Given the description of an element on the screen output the (x, y) to click on. 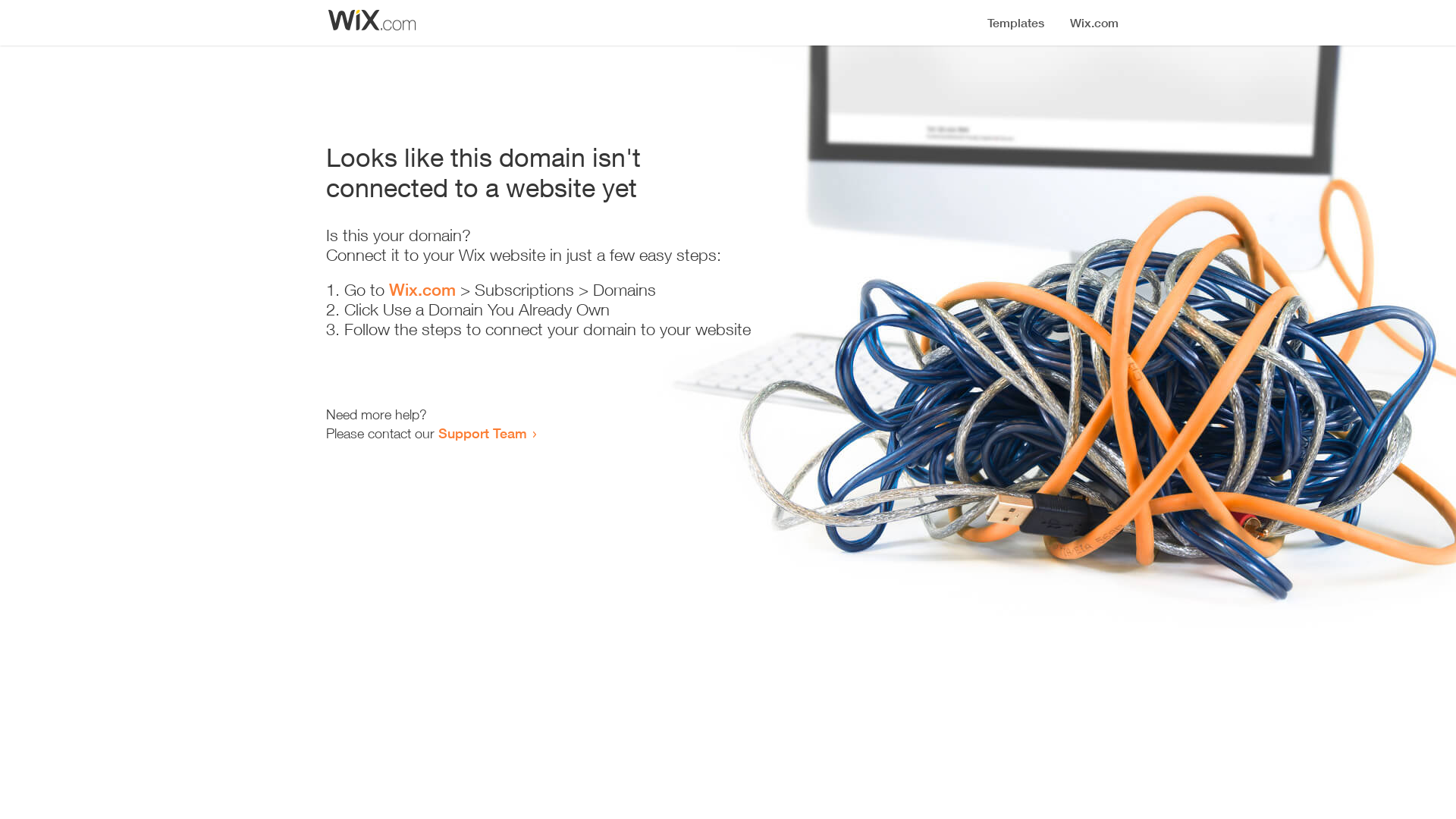
Support Team Element type: text (482, 432)
Wix.com Element type: text (422, 289)
